Given the description of an element on the screen output the (x, y) to click on. 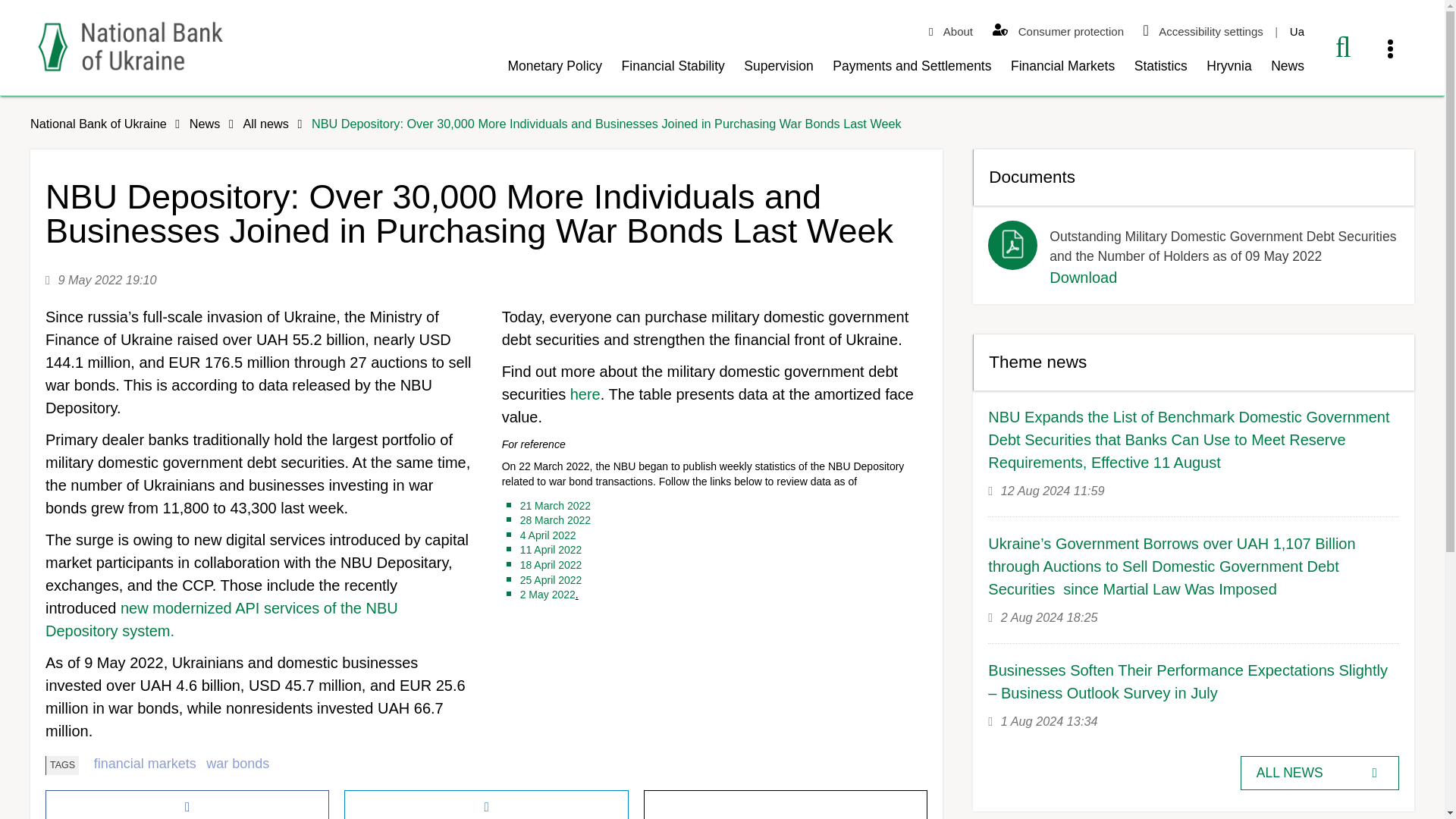
Ua (1296, 31)
Supervision (778, 71)
Payments and Settlements (911, 71)
Accessibility settings (1203, 31)
About (950, 31)
SKIP TO CONTENT (48, 105)
Monetary Policy (555, 71)
Financial Stability (673, 71)
Consumer protection (1058, 31)
